Given the description of an element on the screen output the (x, y) to click on. 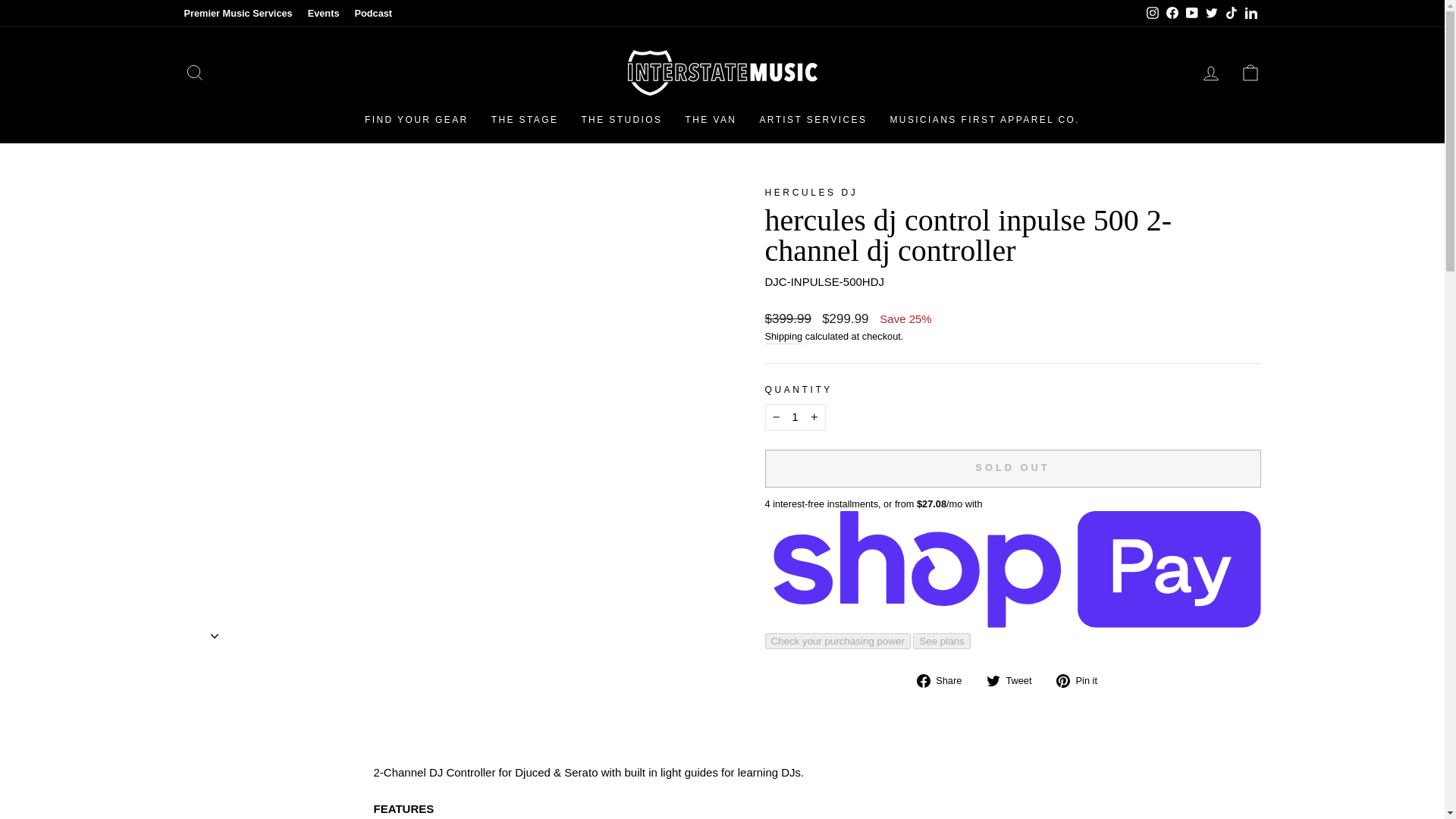
Interstate Music on TikTok (1230, 13)
Interstate Music on Instagram (1151, 13)
Interstate Music on YouTube (1190, 13)
Interstate Music on Twitter (1211, 13)
1 (794, 417)
Interstate Music on Facebook (1170, 13)
Tweet on Twitter (1014, 680)
Events (323, 13)
Pin on Pinterest (1082, 680)
Podcast (372, 13)
Hercules DJ (810, 192)
Interstate Music on LinkedIn (1250, 13)
Share on Facebook (944, 680)
Premier Music Services (237, 13)
